Given the description of an element on the screen output the (x, y) to click on. 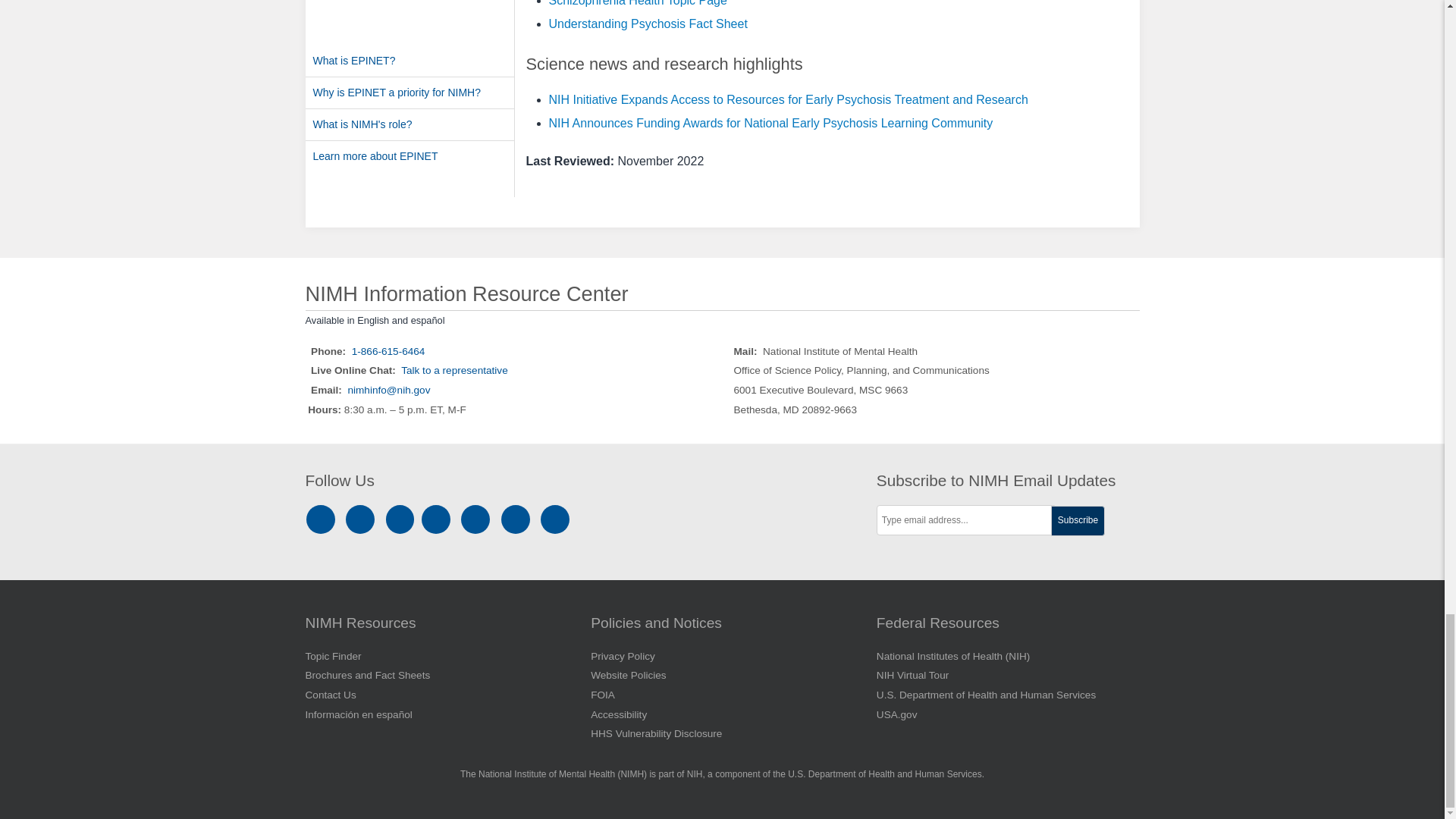
NIMH Instagram (322, 518)
NIMH YouTube (478, 518)
NIMH Facebook (363, 518)
Subscribe (1078, 521)
NIMH Twitter (438, 518)
NIMH Newsletters (515, 518)
NIMH LinkedIn (402, 518)
NIMH News Feeds (555, 518)
